Given the description of an element on the screen output the (x, y) to click on. 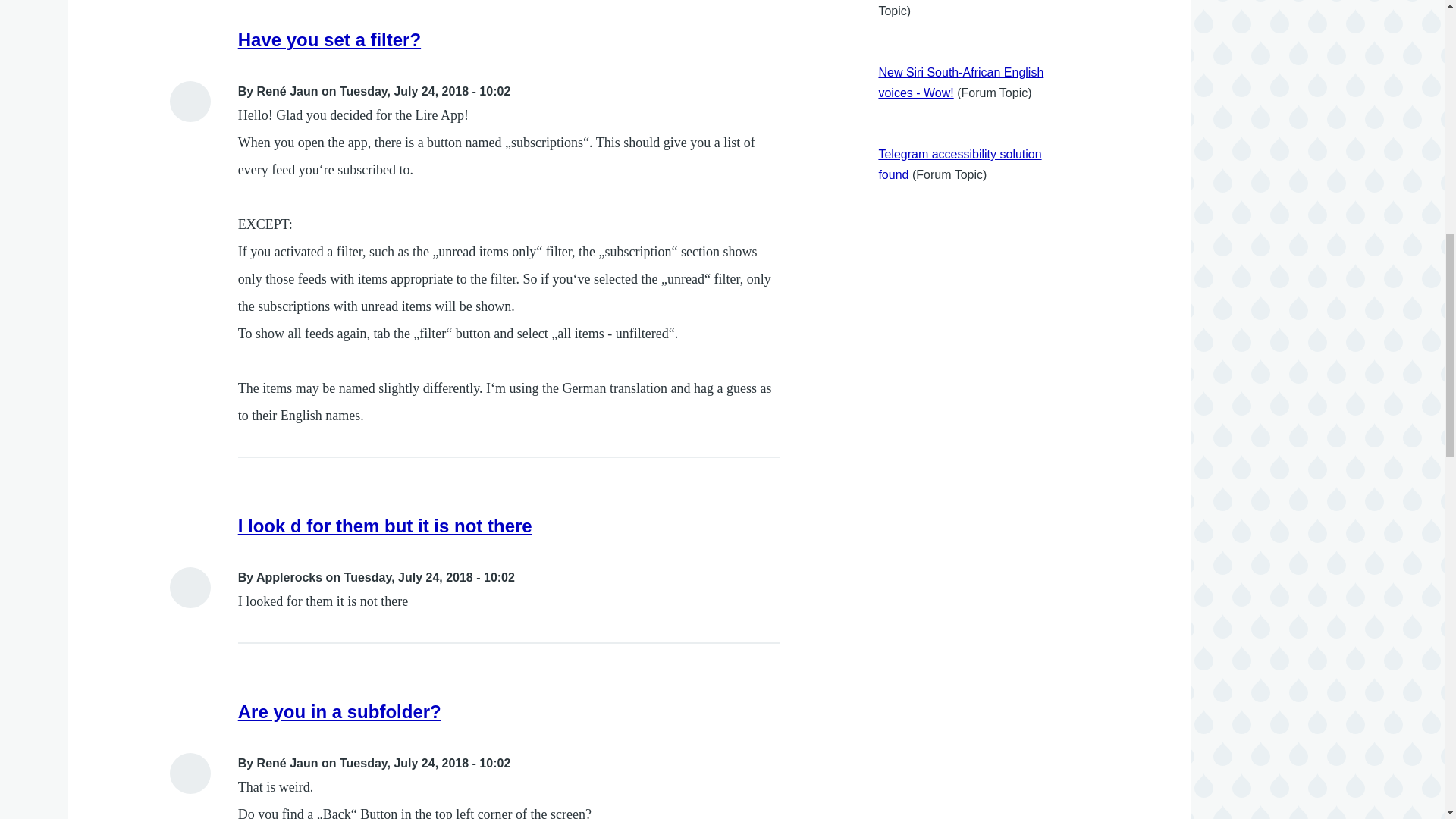
Telegram accessibility solution found (959, 164)
Have you set a filter? (329, 39)
New Siri South-African English voices - Wow! (960, 82)
Are you in a subfolder? (339, 711)
I look d for them but it is not there (385, 525)
